Given the description of an element on the screen output the (x, y) to click on. 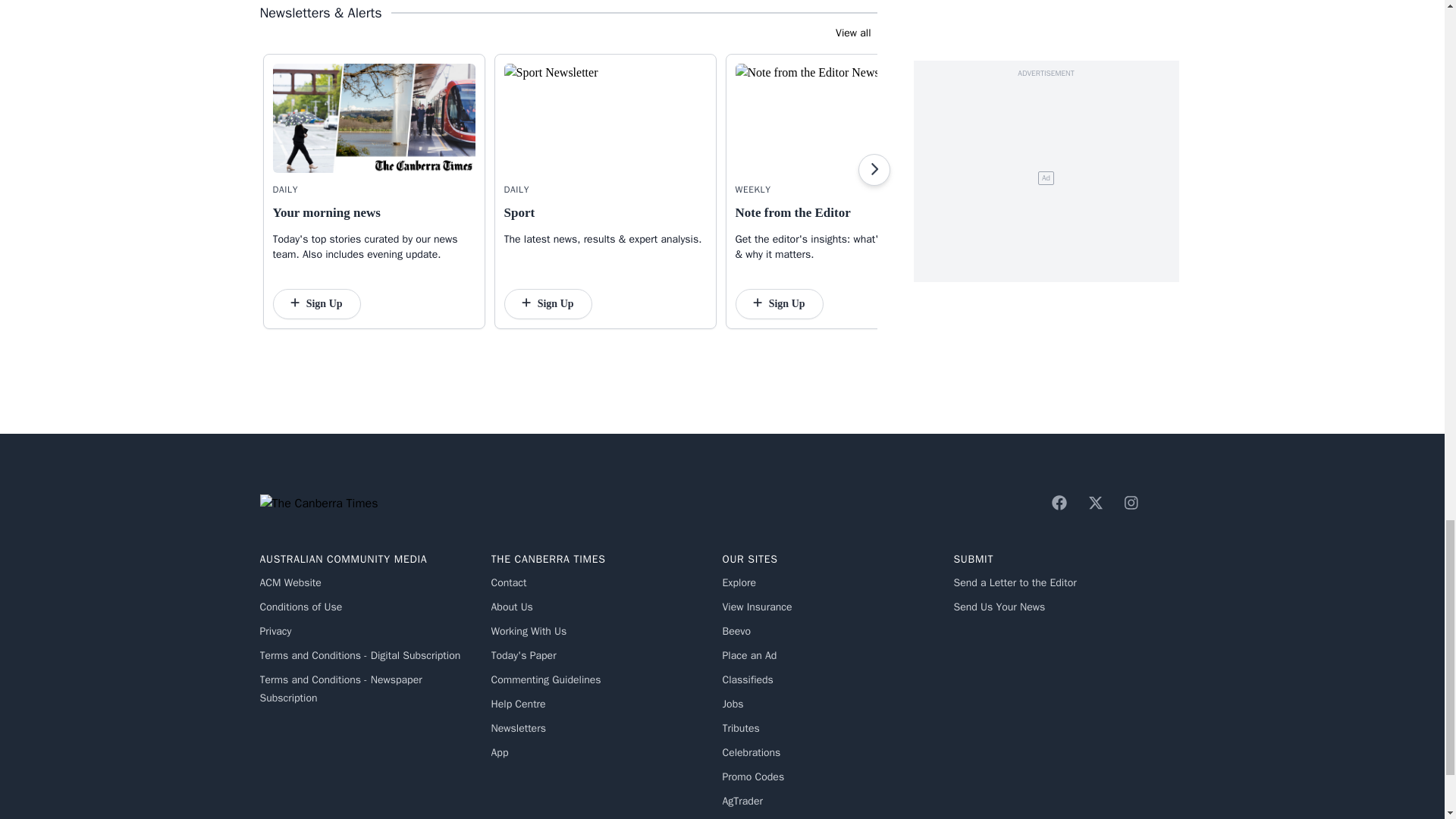
Sport Newsletter (604, 117)
Your morning news Newsletter (374, 117)
Note from the Editor Newsletter (836, 117)
